Given the description of an element on the screen output the (x, y) to click on. 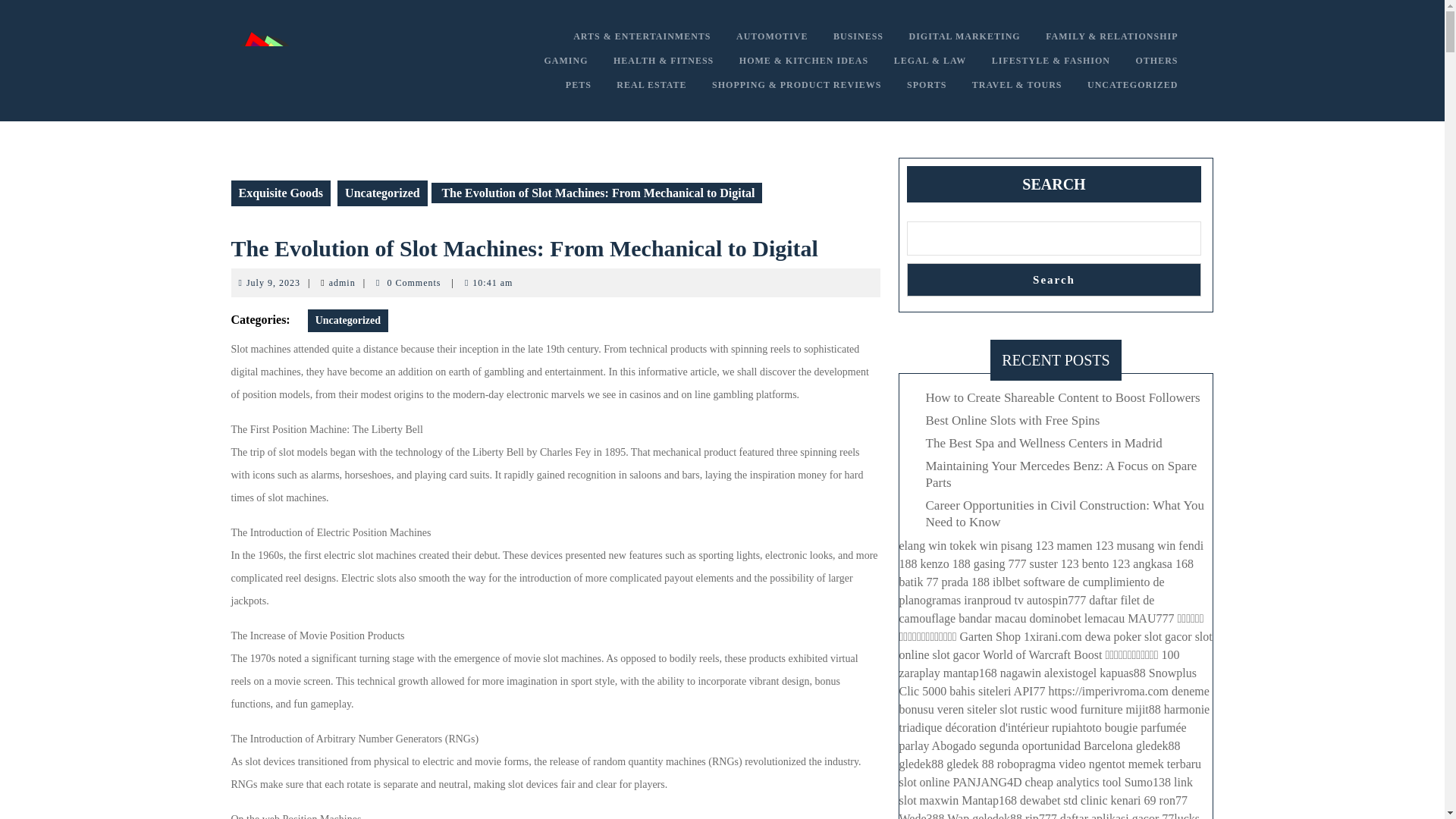
REAL ESTATE (651, 84)
Uncategorized (342, 282)
BUSINESS (382, 193)
UNCATEGORIZED (858, 36)
DIGITAL MARKETING (1132, 84)
AUTOMOTIVE (965, 36)
Search (771, 36)
OTHERS (1054, 279)
PETS (272, 282)
Uncategorized (1156, 60)
GAMING (578, 84)
Exquisite Goods (347, 320)
